Given the description of an element on the screen output the (x, y) to click on. 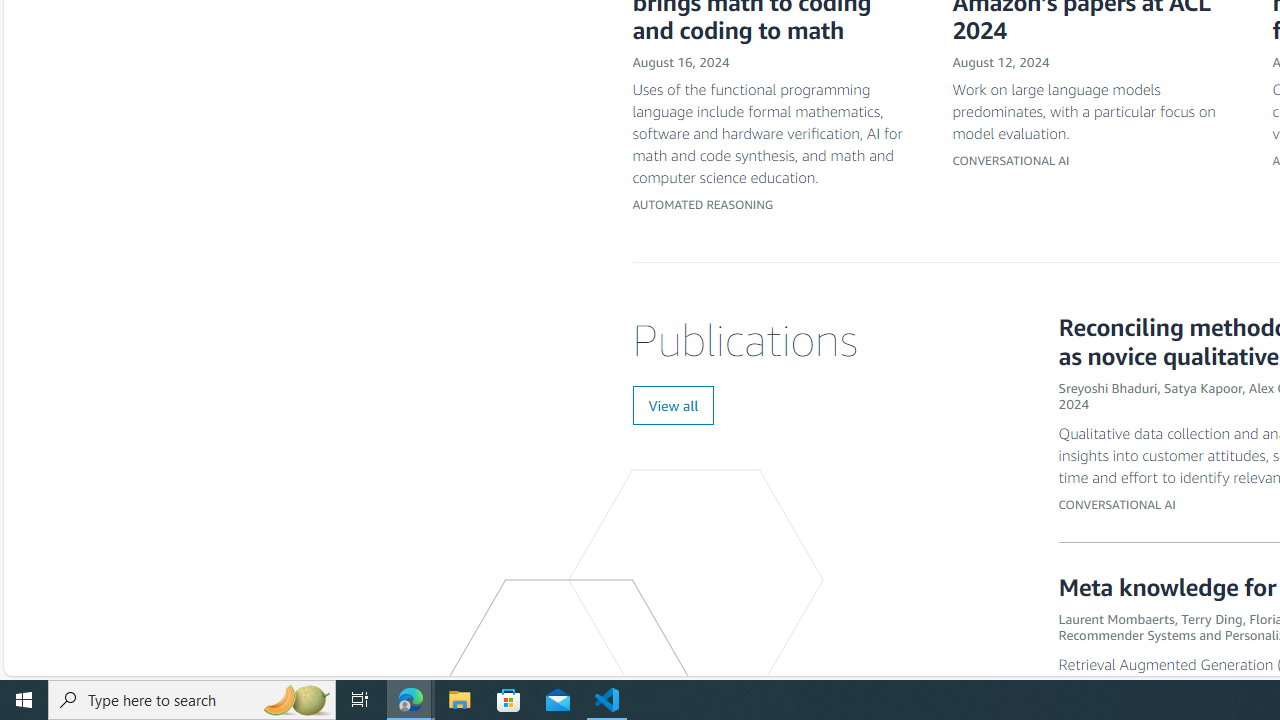
View all (673, 405)
AUTOMATED REASONING (703, 205)
Laurent Mombaerts (1116, 618)
CONVERSATIONAL AI (1117, 503)
Terry Ding (1211, 618)
Sreyoshi Bhaduri (1108, 387)
Satya Kapoor (1202, 387)
